Given the description of an element on the screen output the (x, y) to click on. 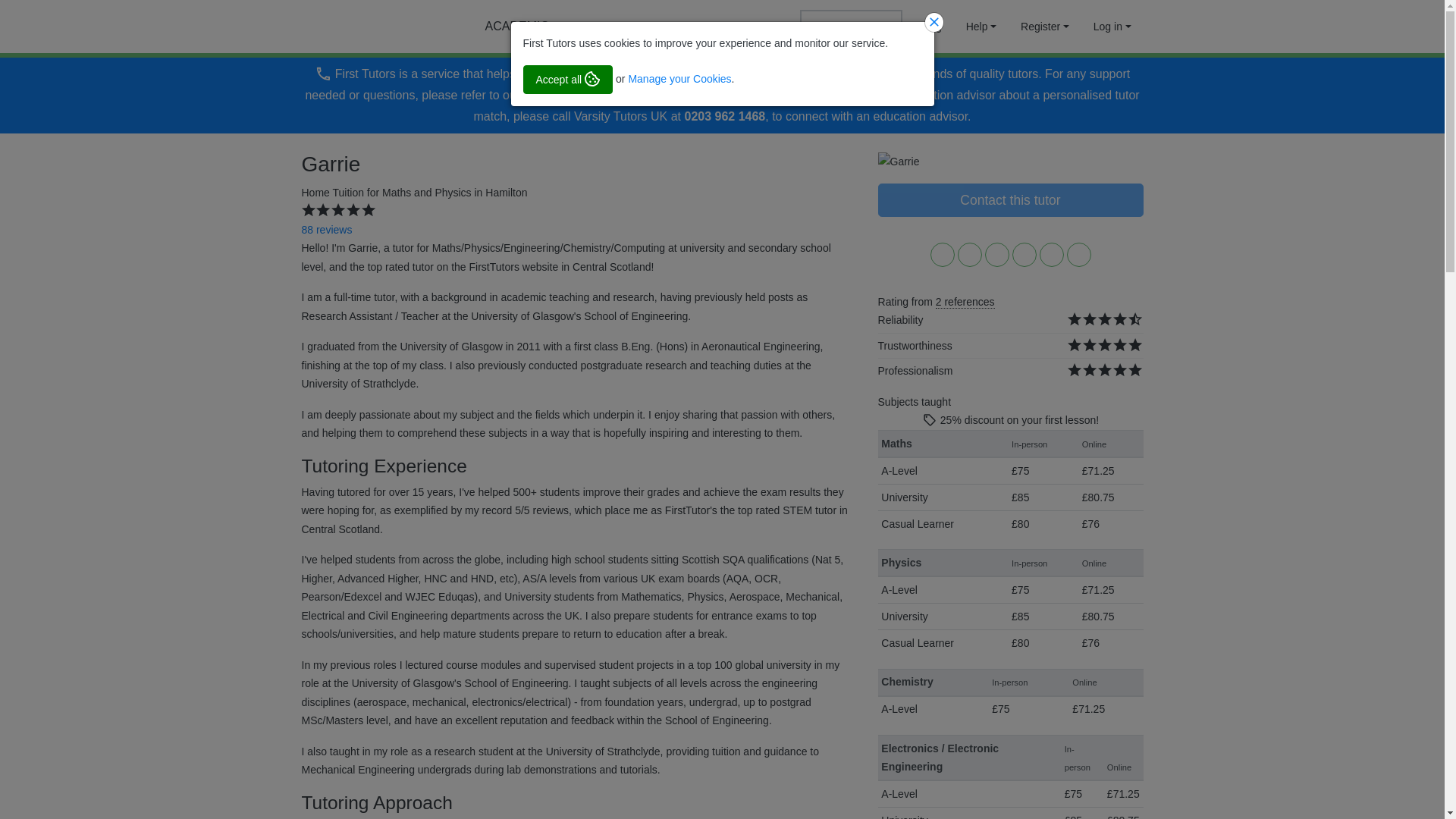
ACADEMIC (509, 26)
Become a Tutor (851, 26)
First Tutors: Music - Find an Academic Teacher! (509, 26)
First Tutors (365, 26)
Maths (395, 192)
Log in to First Tutors (1111, 26)
Contact this tutor (1009, 200)
88 reviews (326, 229)
Hamilton (505, 192)
2 references (965, 301)
Register (1045, 26)
Register with First Tutors as a tutor, parent or student (1045, 26)
Help (981, 26)
Physics (451, 192)
Log in (1111, 26)
